Given the description of an element on the screen output the (x, y) to click on. 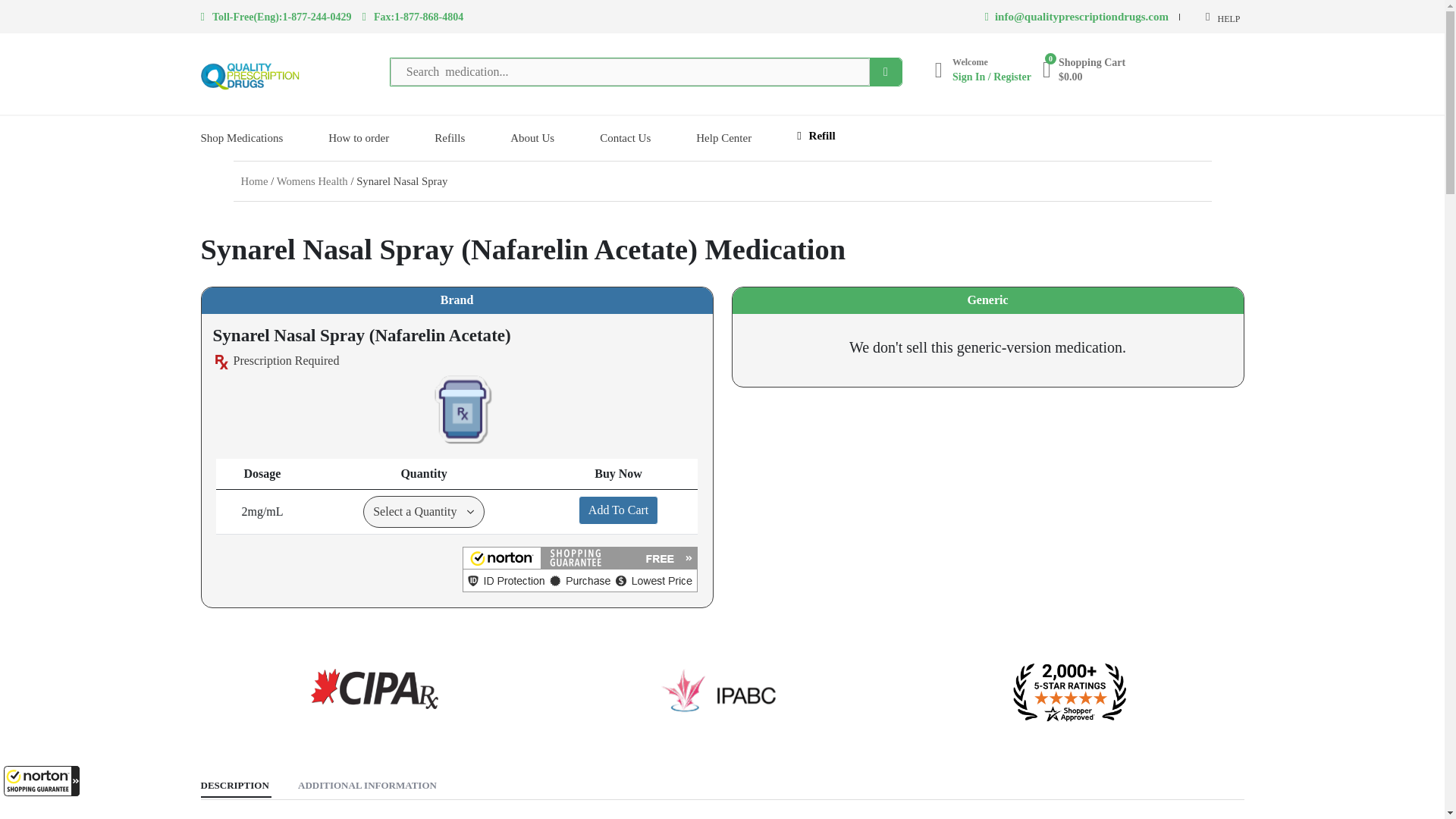
DESCRIPTION (233, 785)
0 (1046, 69)
Refills (448, 138)
Home (254, 180)
Add To Cart (618, 510)
HELP (1222, 17)
ADDITIONAL INFORMATION (367, 785)
Womens Health (311, 180)
Help Center (723, 138)
About Us (532, 138)
How to order (358, 138)
Unused iFrame 1 (42, 780)
Shop Medications (241, 138)
Contact Us (624, 138)
Fax:1-877-868-4804 (413, 17)
